Given the description of an element on the screen output the (x, y) to click on. 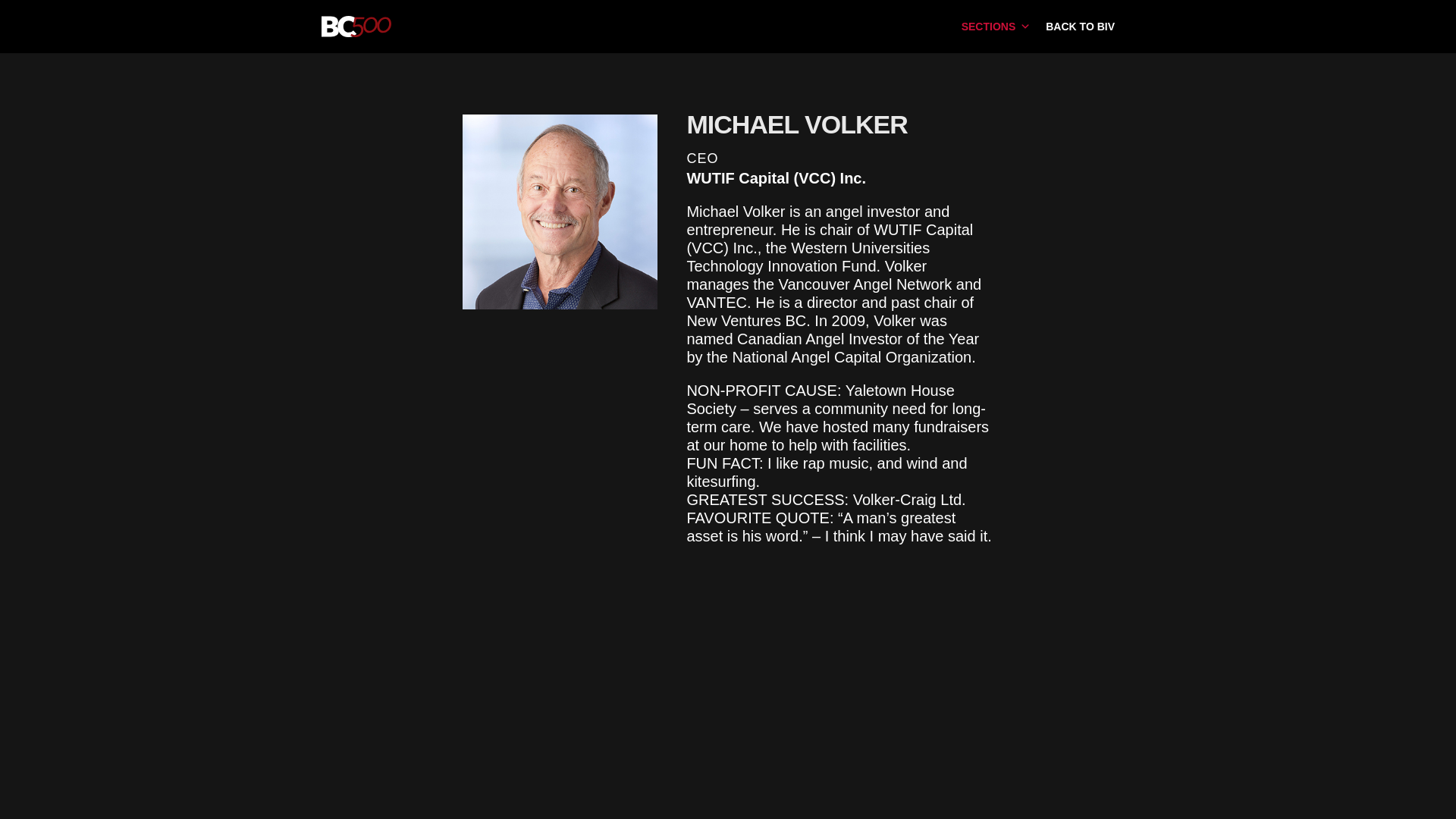
BACK TO BIV (1080, 26)
MikeVolker (560, 211)
SECTIONS (996, 26)
